Given the description of an element on the screen output the (x, y) to click on. 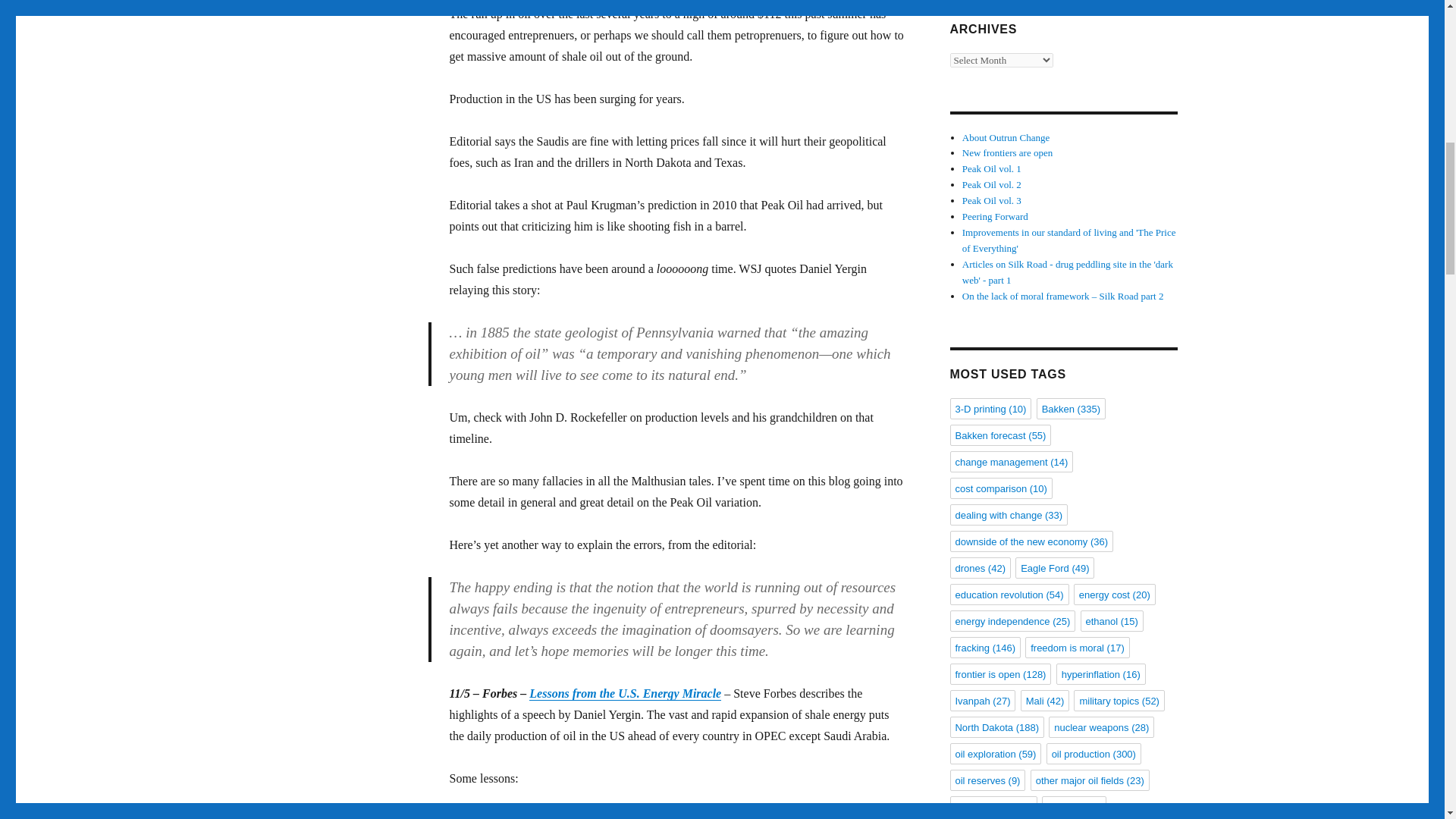
Lessons from the U.S. Energy Miracle (624, 693)
